Given the description of an element on the screen output the (x, y) to click on. 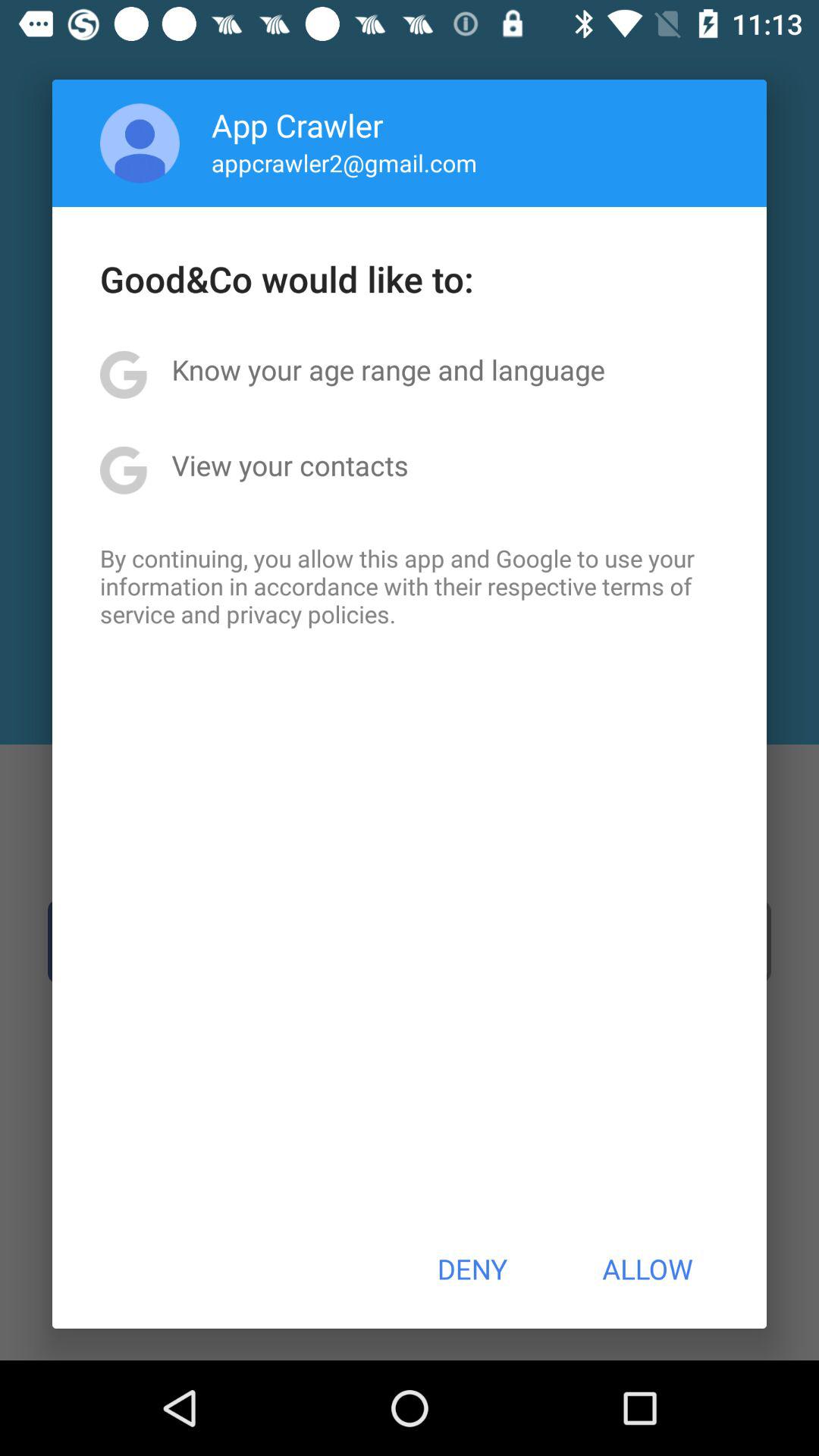
swipe until app crawler (297, 124)
